Given the description of an element on the screen output the (x, y) to click on. 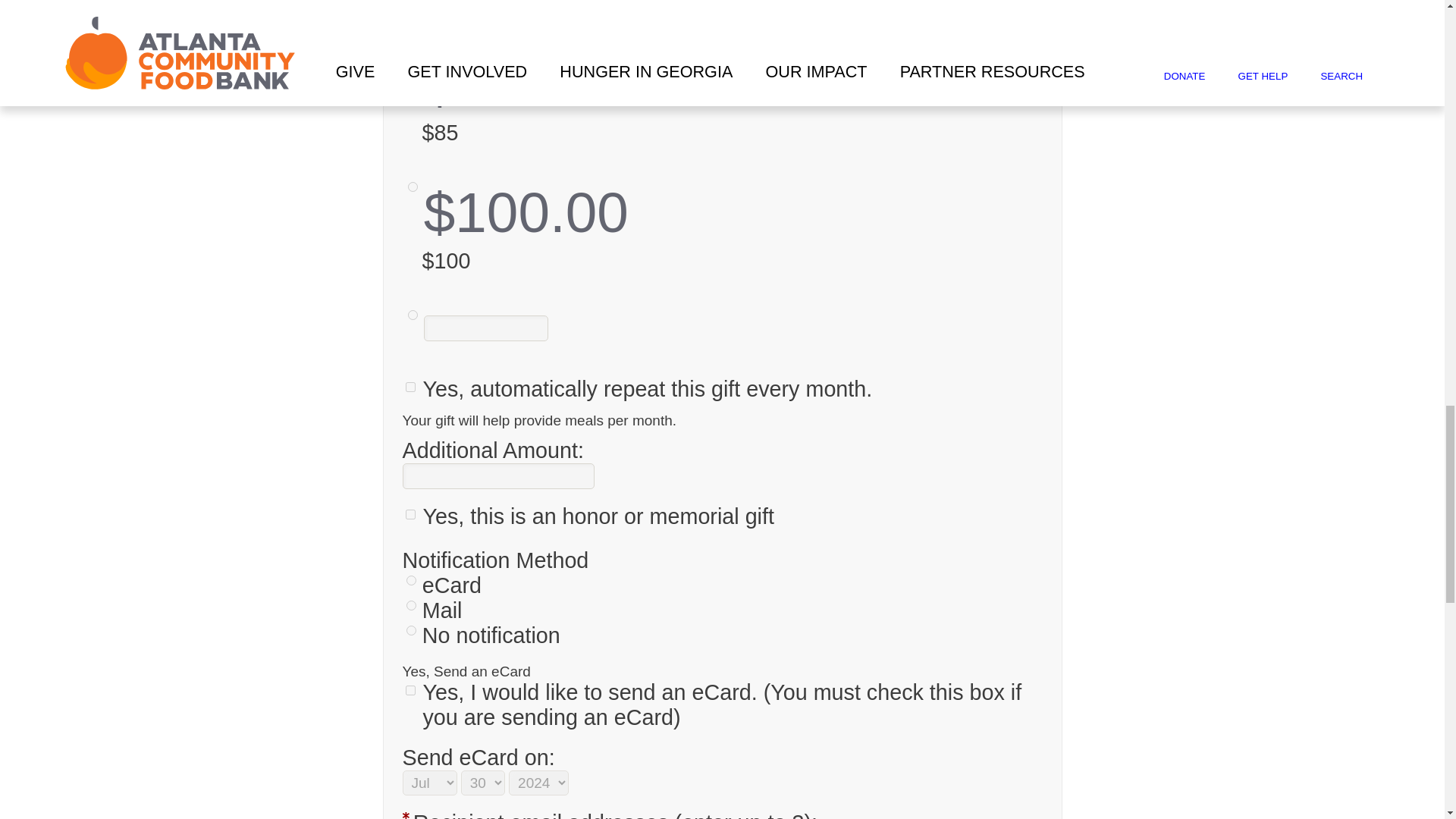
11458 (412, 58)
Month (429, 782)
on (409, 514)
No notification (411, 630)
11453 (412, 315)
Day (483, 782)
on (409, 690)
on (409, 387)
Year (538, 782)
eCard (411, 580)
11459 (412, 186)
Mail (411, 605)
